Given the description of an element on the screen output the (x, y) to click on. 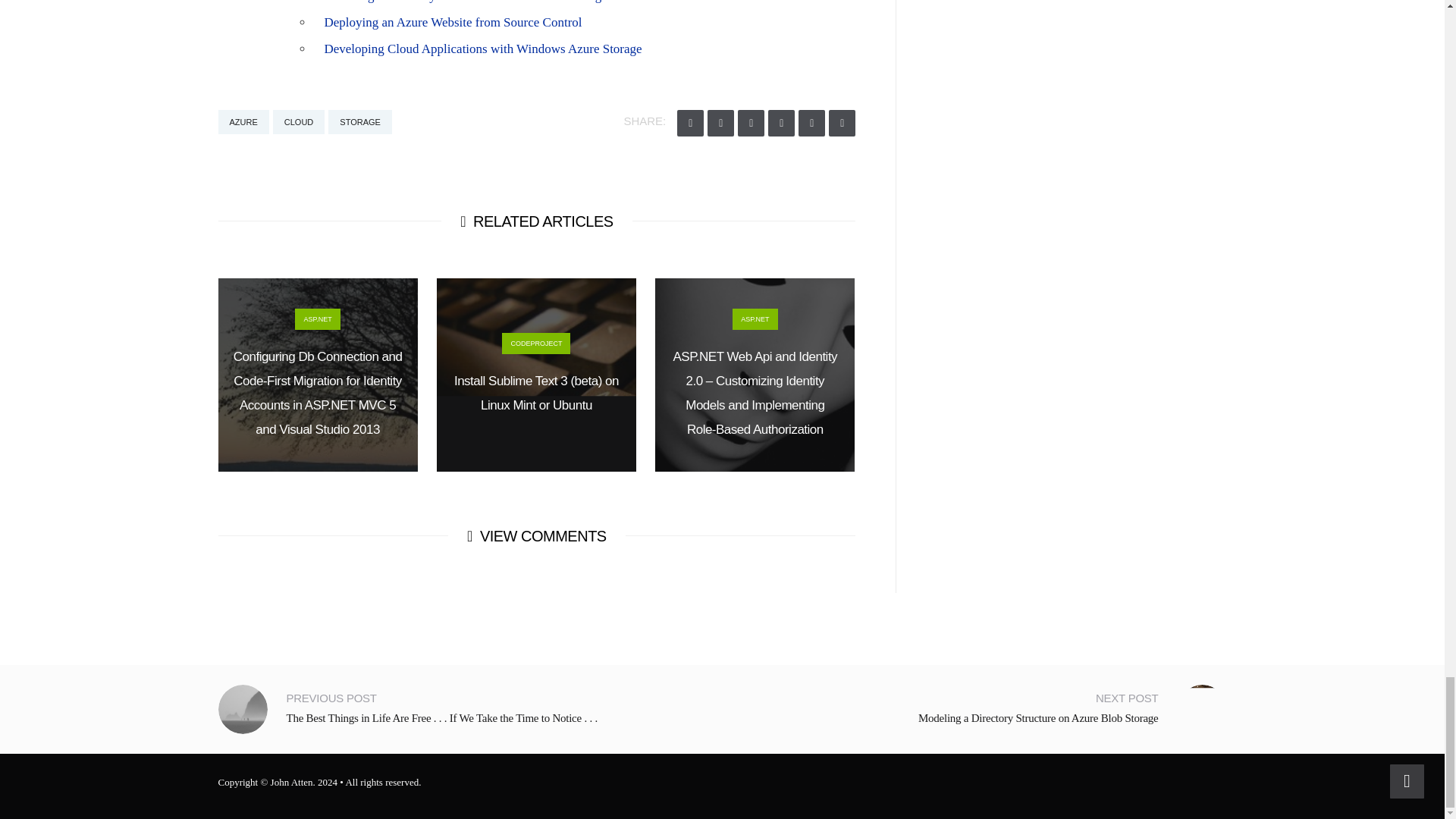
Twitter (690, 122)
Pinterest (842, 122)
Google Plus (751, 122)
Reddit (781, 122)
LinkedIn (811, 122)
Facebook (720, 122)
